Given the description of an element on the screen output the (x, y) to click on. 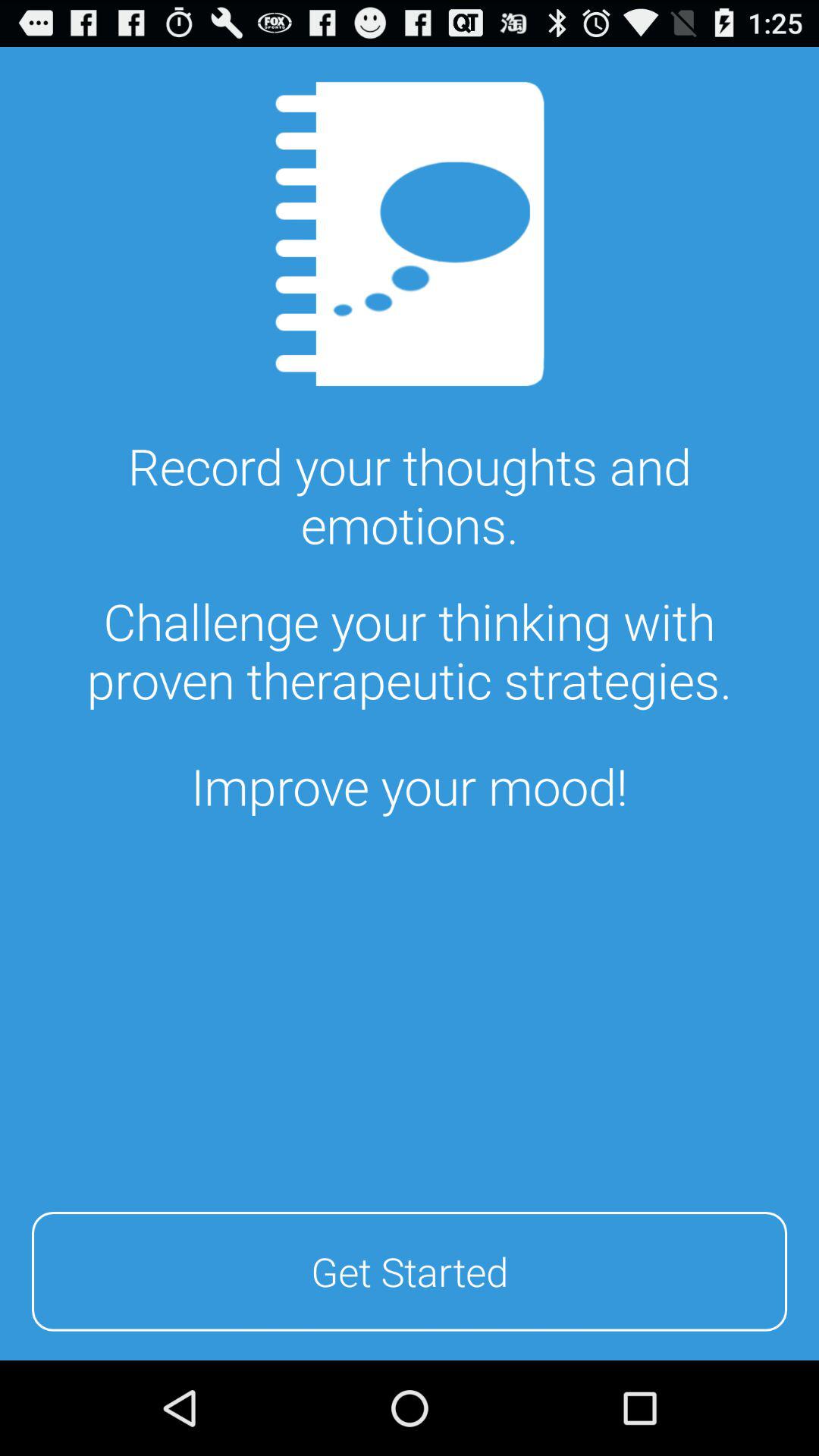
turn on get started (409, 1268)
